Given the description of an element on the screen output the (x, y) to click on. 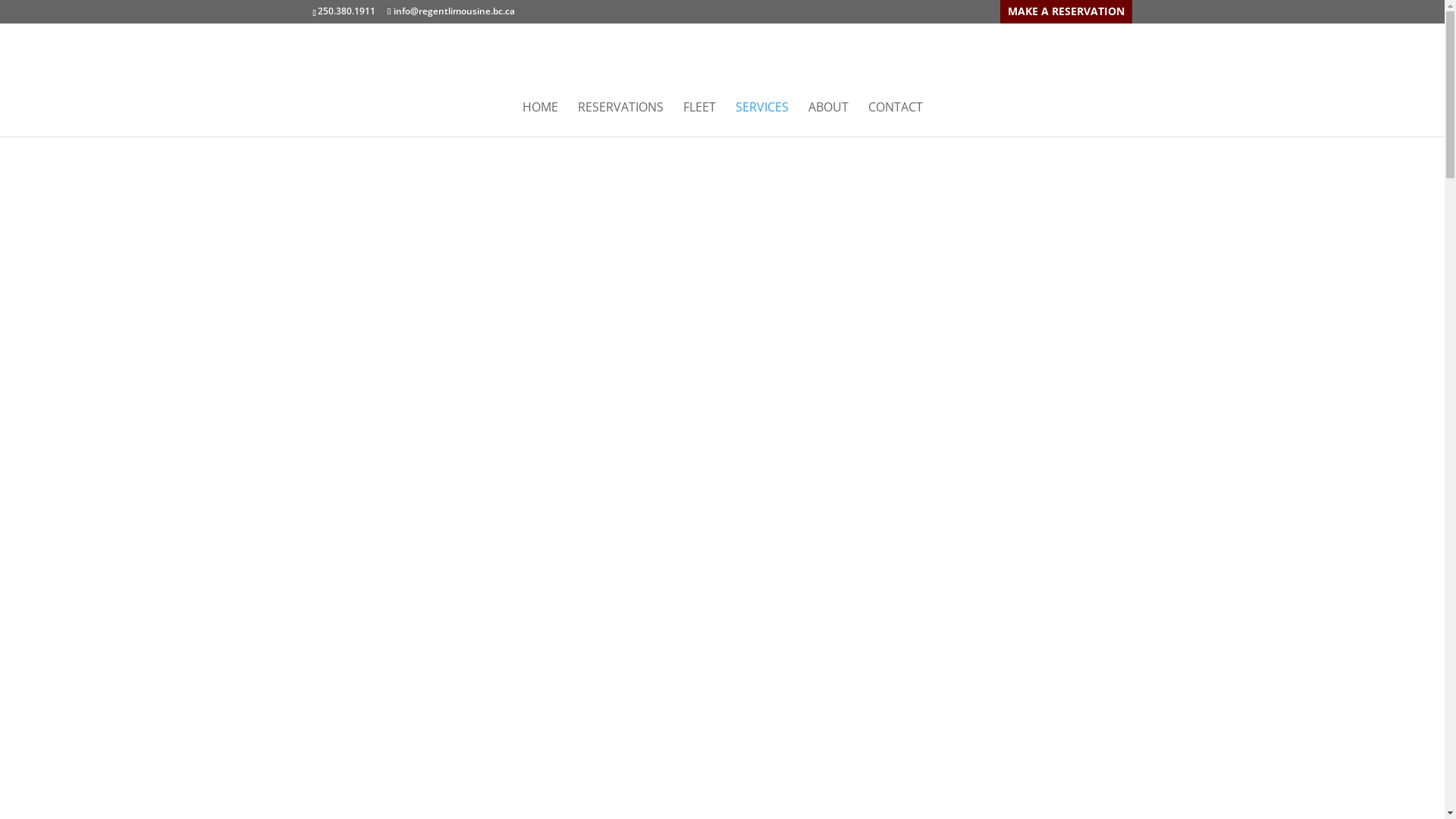
Group Travel Element type: text (557, 497)
About Element type: text (814, 117)
Corporate Services Element type: text (464, 497)
Wine Tours Element type: text (1012, 515)
Reservations Element type: text (638, 117)
Fleet Element type: text (703, 117)
Services Element type: text (757, 117)
Make a Reservation Element type: text (1088, 14)
info@regentlimousine.bc.ca Element type: text (449, 11)
Contact Element type: text (868, 117)
Airport Services Element type: text (642, 497)
Home Element type: text (570, 117)
Weddings & Special Occasions Element type: text (770, 497)
250.380.1911 Element type: text (345, 11)
Tours & Sightseeing Element type: text (907, 497)
